Given the description of an element on the screen output the (x, y) to click on. 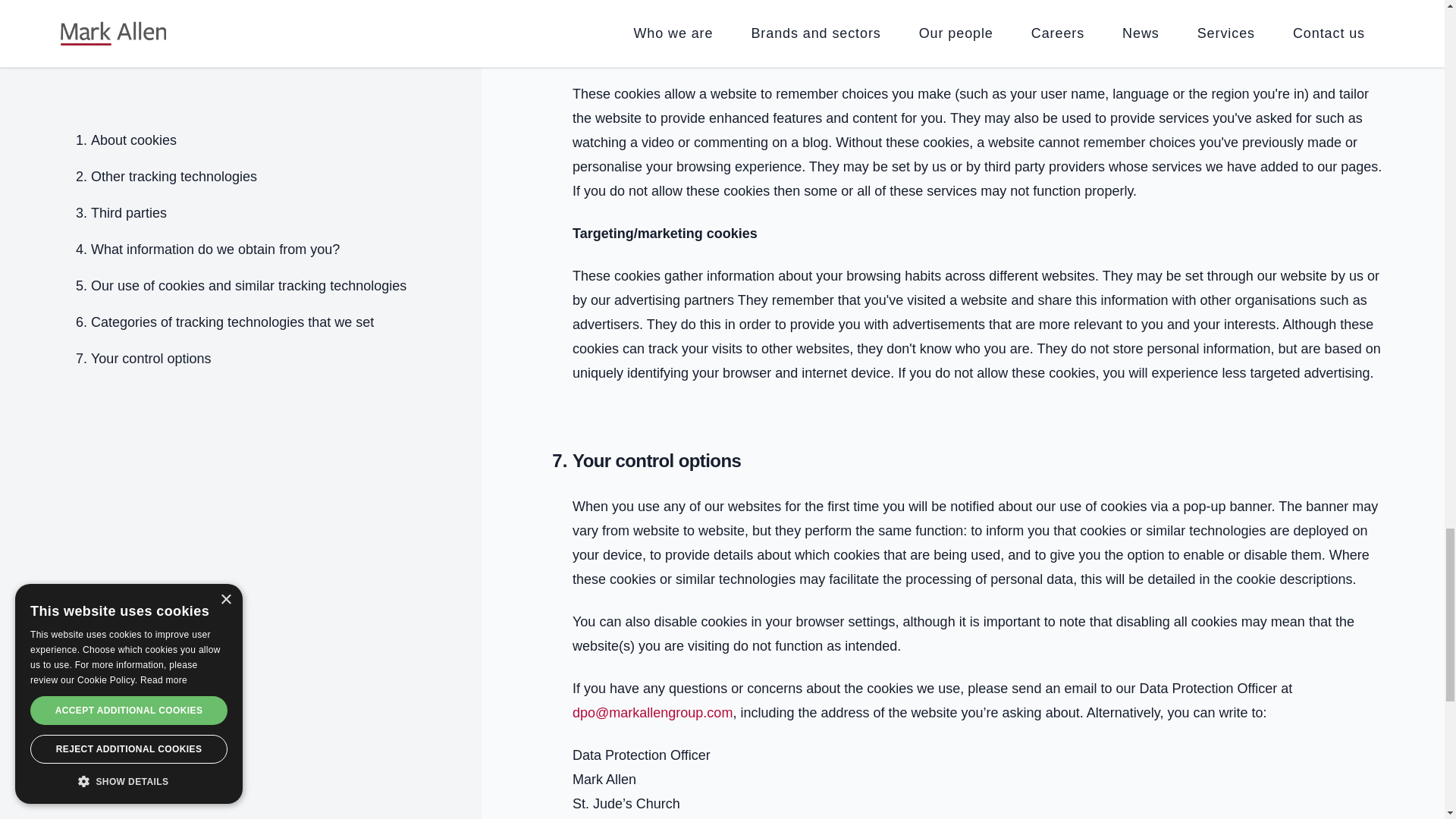
Google Analytics Opt-Out (679, 8)
